Given the description of an element on the screen output the (x, y) to click on. 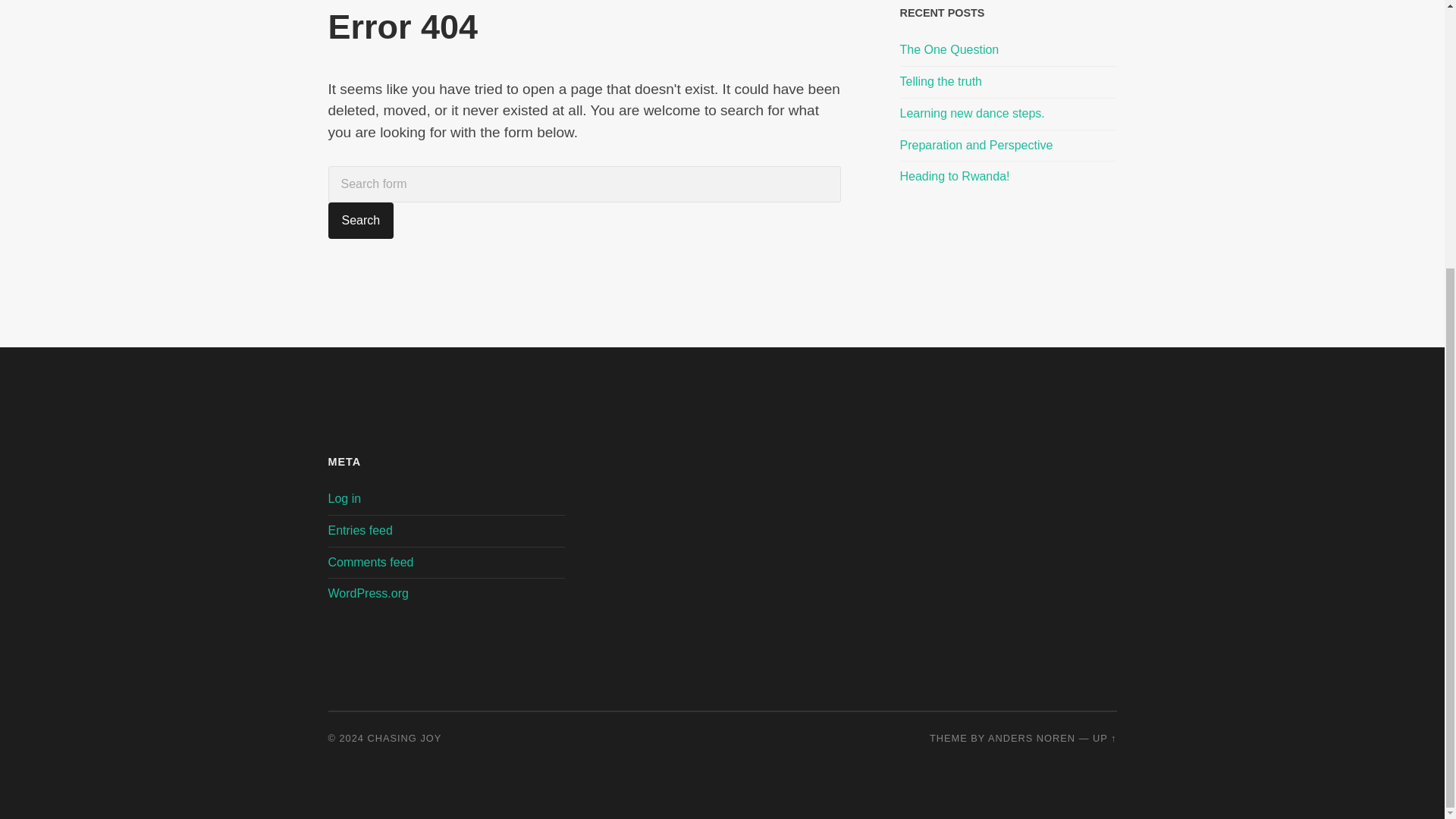
Entries feed (359, 530)
Search (360, 220)
Search (360, 220)
Heading to Rwanda! (1007, 176)
CHASING JOY (405, 737)
Telling the truth (1007, 82)
WordPress.org (367, 593)
To the top (1104, 737)
Preparation and Perspective (1007, 145)
Learning new dance steps. (1007, 114)
Comments feed (370, 562)
The One Question (1007, 50)
ANDERS NOREN (1031, 737)
Log in (344, 498)
